Given the description of an element on the screen output the (x, y) to click on. 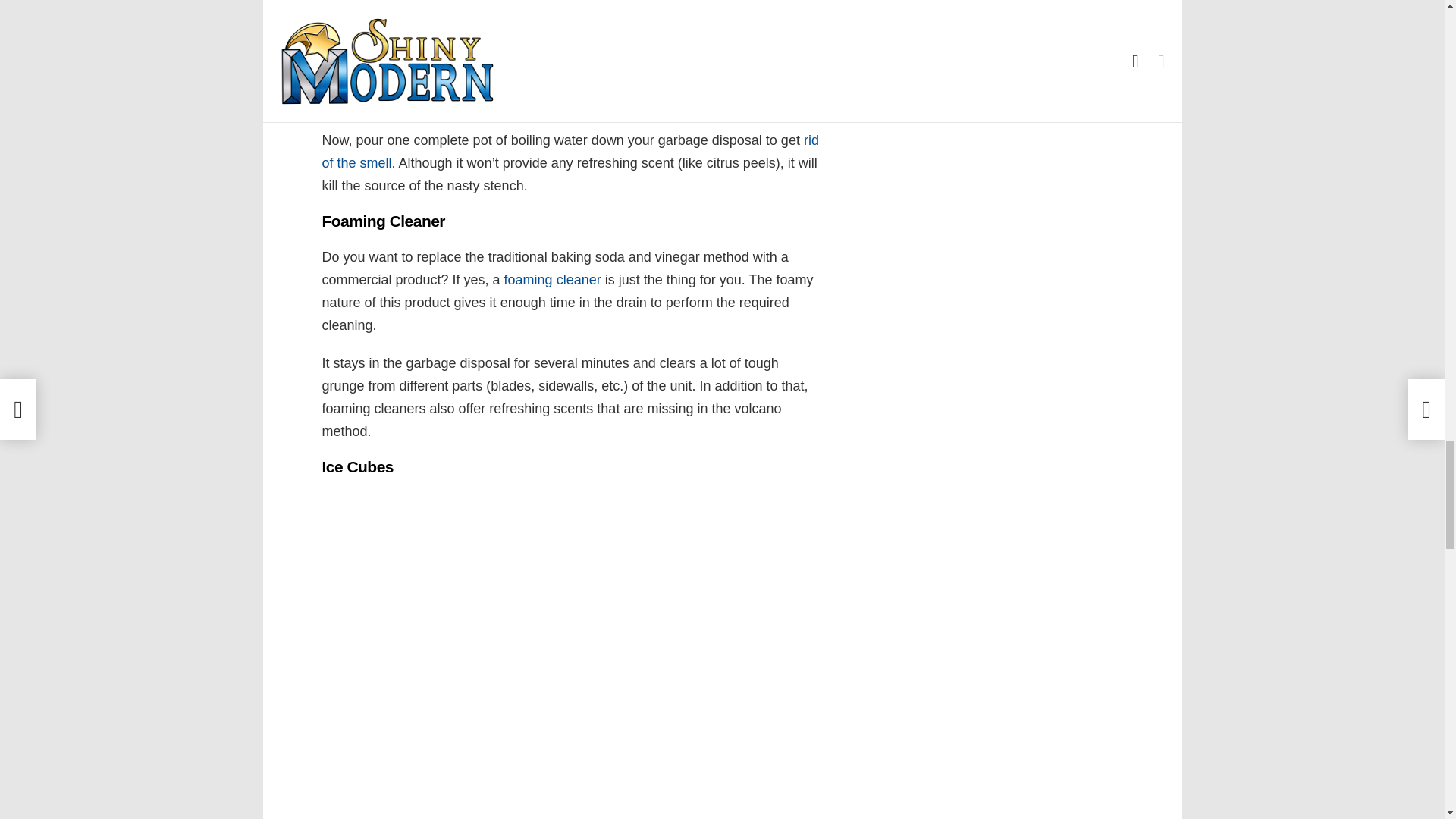
into your garbage disposal (555, 22)
rid of the smell (569, 151)
foaming cleaner (552, 279)
